Given the description of an element on the screen output the (x, y) to click on. 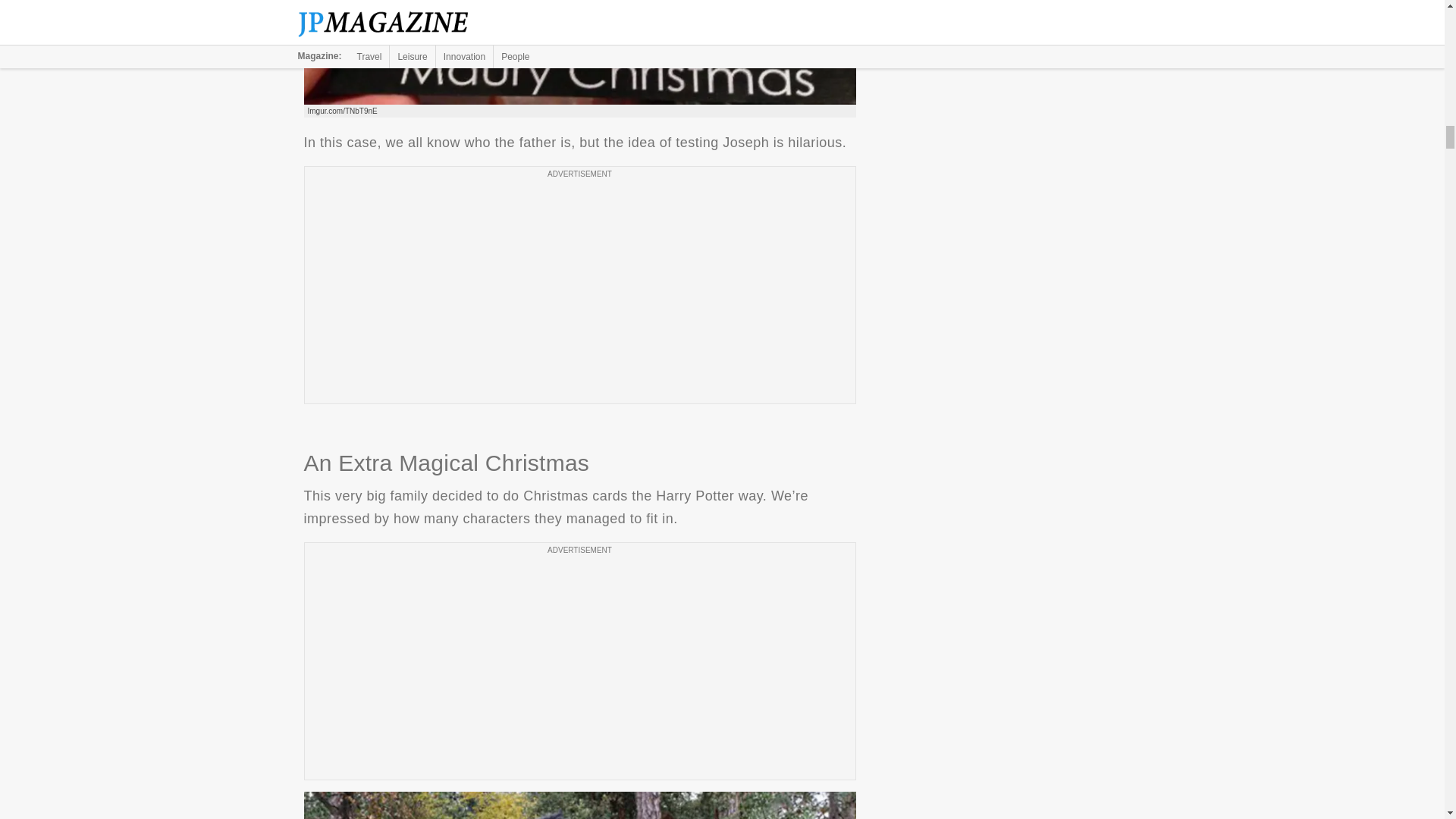
Maury Christmas (579, 52)
An Extra Magical Christmas (579, 805)
